Given the description of an element on the screen output the (x, y) to click on. 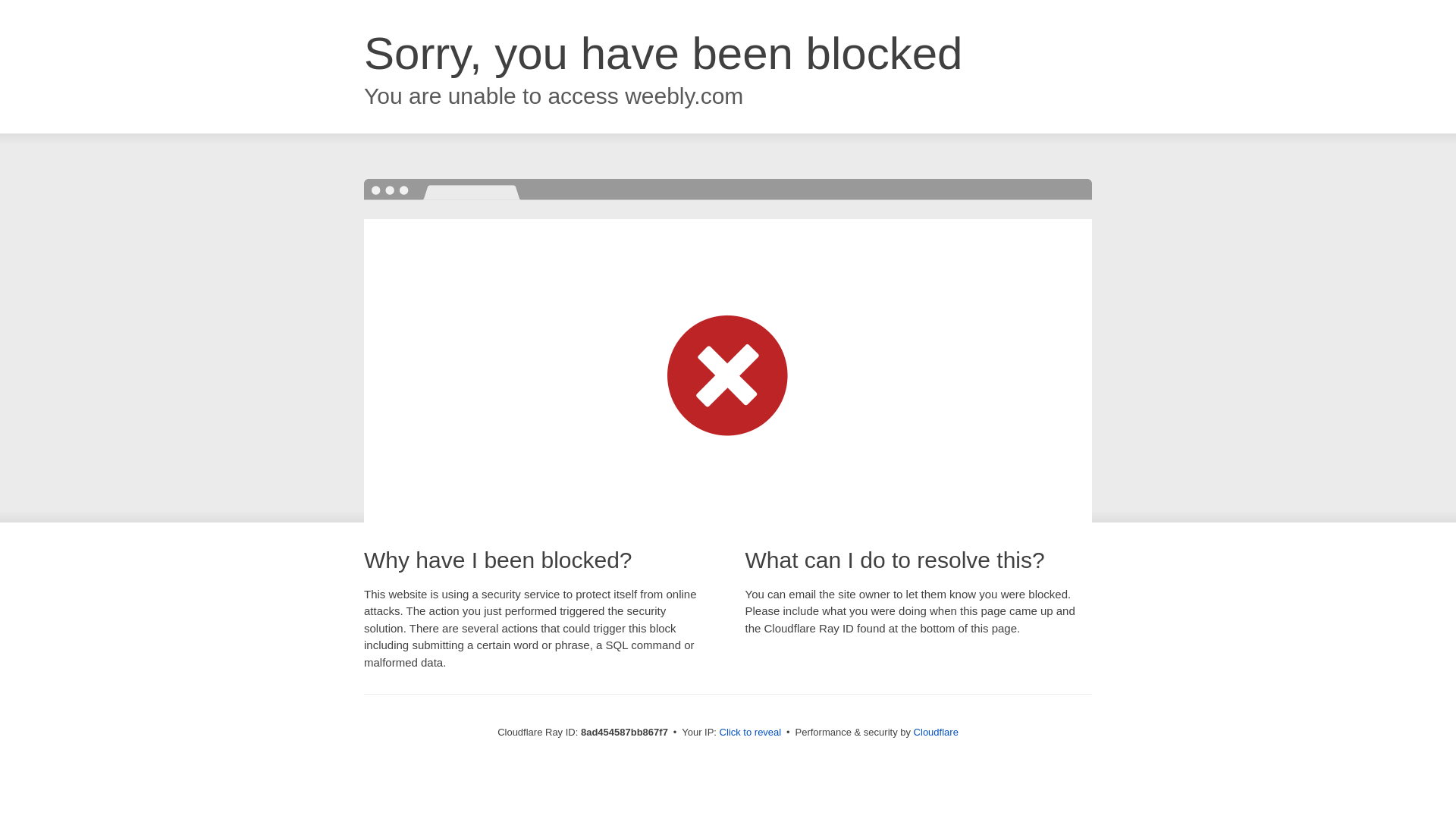
Click to reveal (750, 732)
Cloudflare (936, 731)
